Given the description of an element on the screen output the (x, y) to click on. 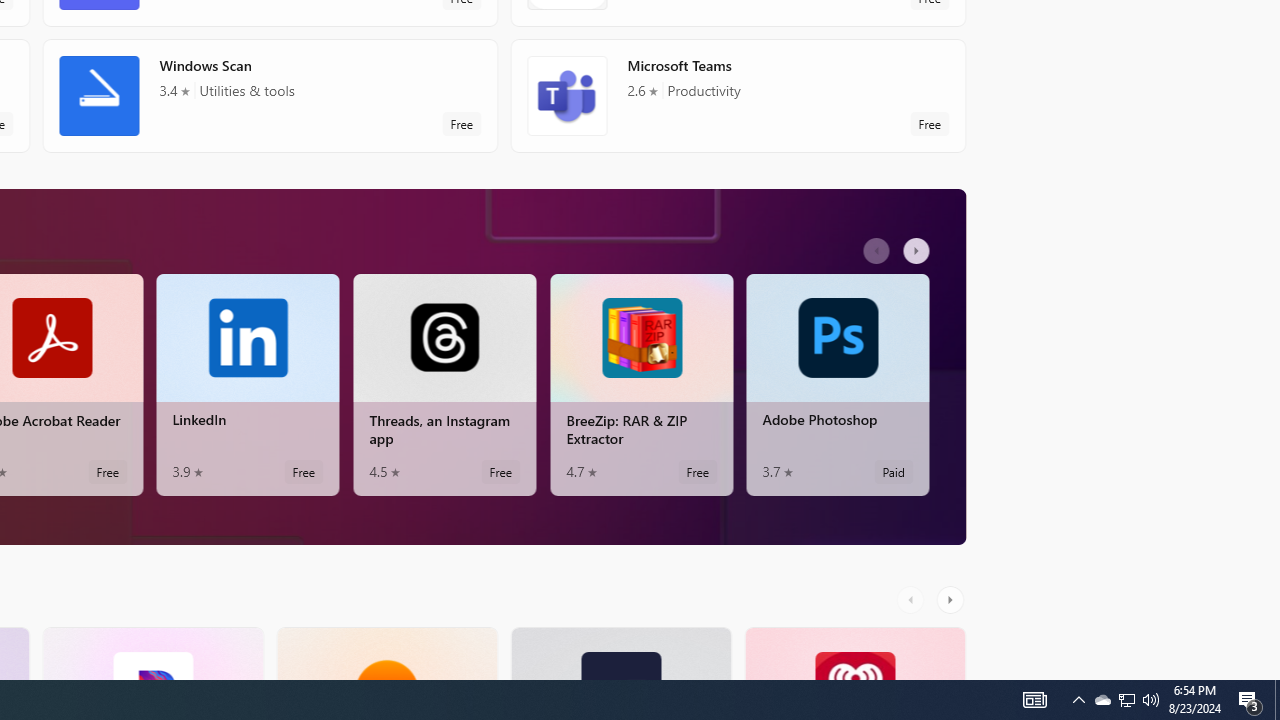
Vertical Small Increase (1272, 672)
AutomationID: LeftScrollButton (913, 599)
Pandora. Average rating of 4.5 out of five stars. Free   (152, 653)
AutomationID: RightScrollButton (952, 599)
LinkedIn. Average rating of 3.9 out of five stars. Free   (247, 384)
